Given the description of an element on the screen output the (x, y) to click on. 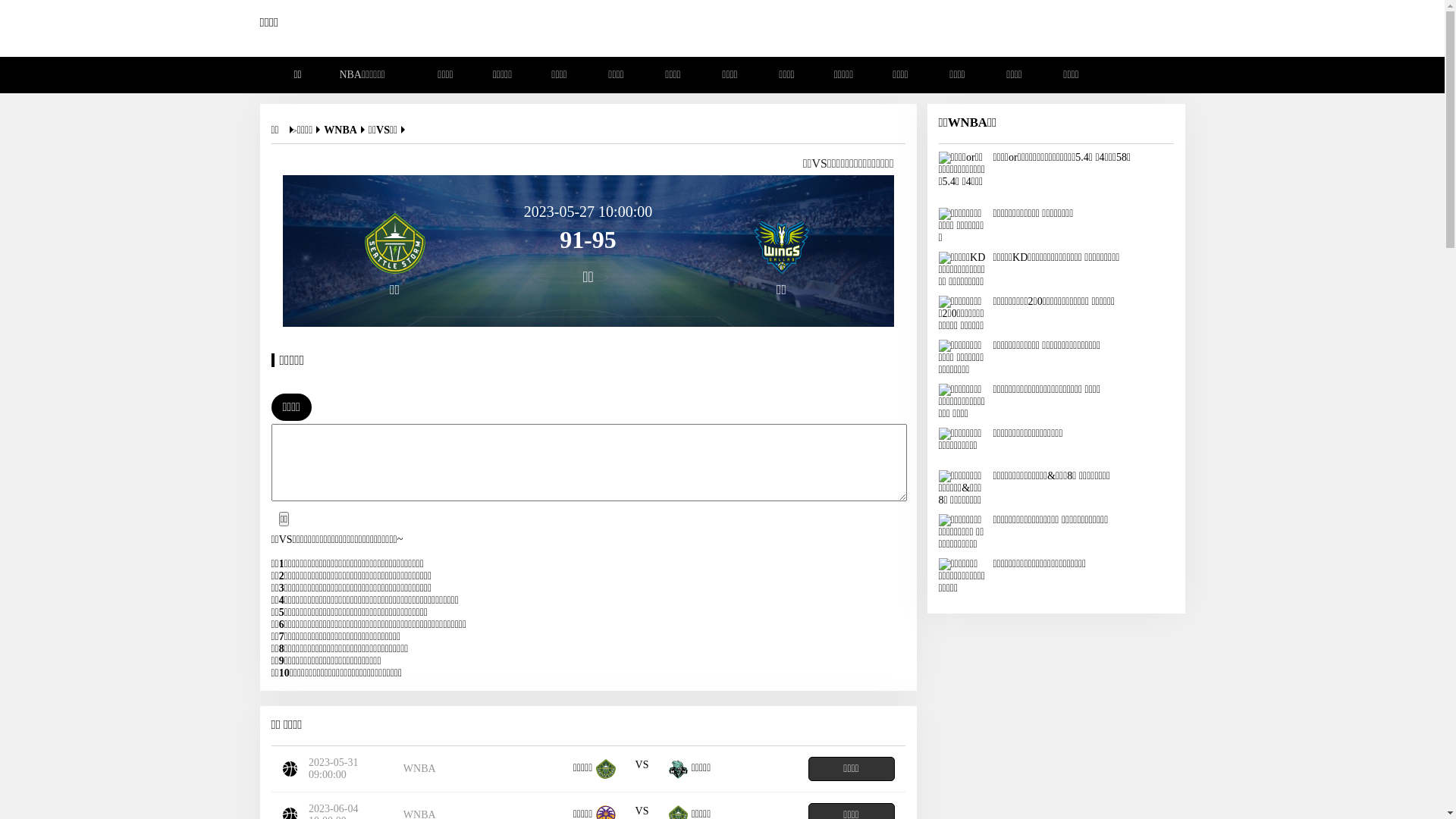
WNBA Element type: text (345, 129)
WNBA Element type: text (419, 768)
